Given the description of an element on the screen output the (x, y) to click on. 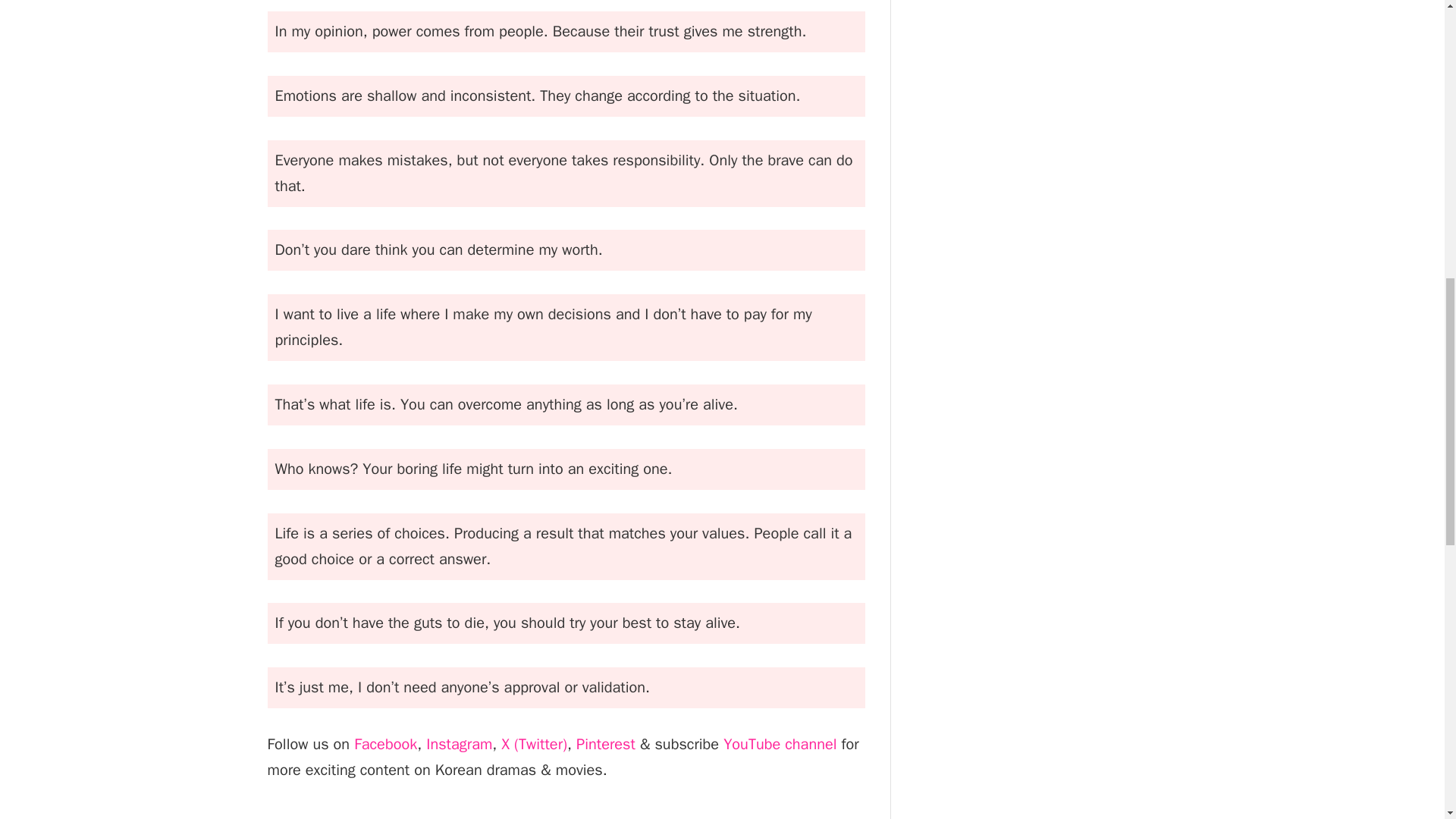
YouTube channel (779, 743)
Instagram (459, 743)
Pinterest (605, 743)
Facebook (384, 743)
